Given the description of an element on the screen output the (x, y) to click on. 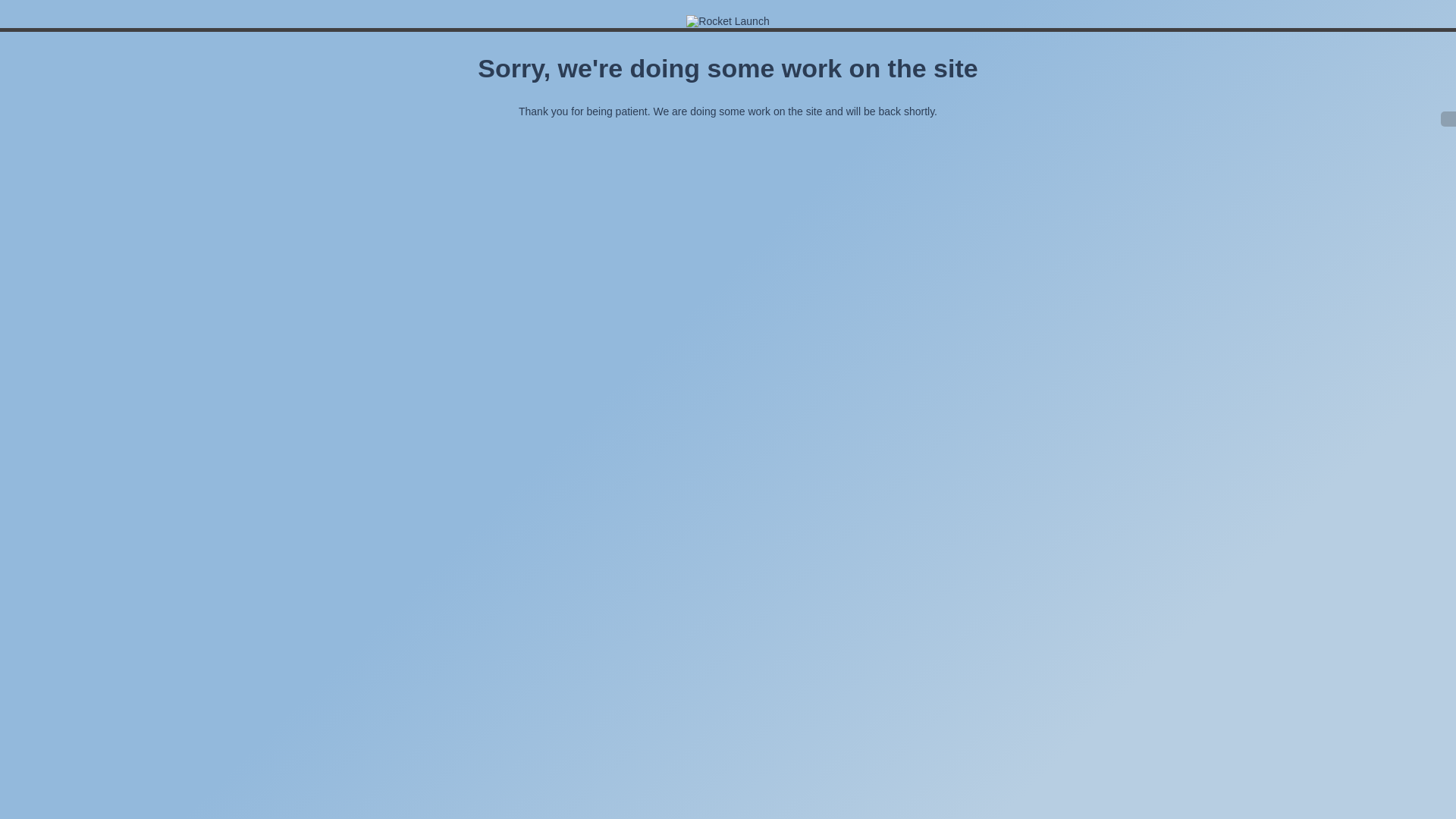
Rocket Launch Element type: hover (727, 21)
